Given the description of an element on the screen output the (x, y) to click on. 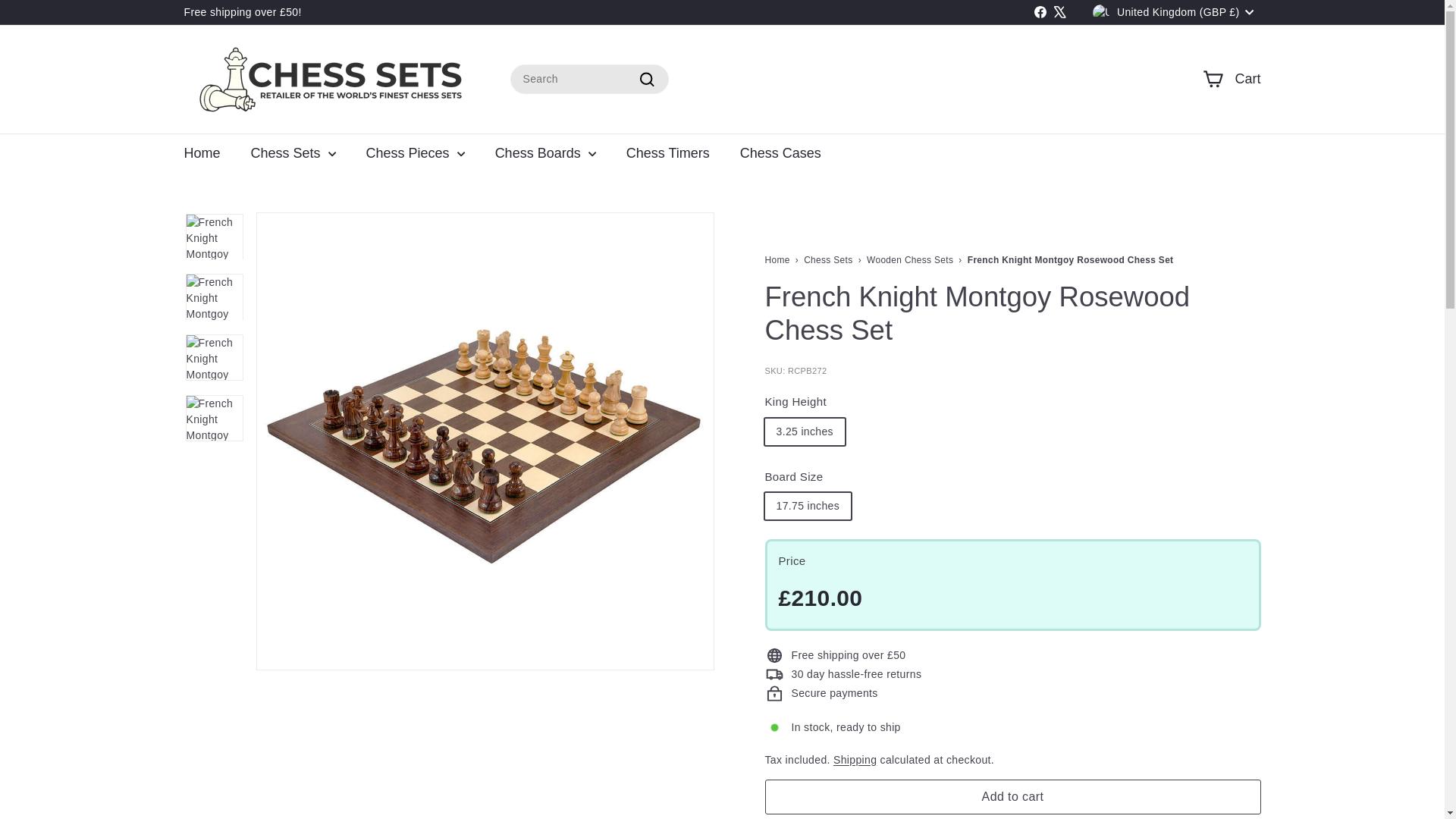
Search (646, 78)
Chess Timers (668, 153)
Cart (1231, 78)
Home (201, 153)
Facebook (1039, 12)
Chess Sets (827, 259)
Chess Cases (780, 153)
X (1059, 12)
